Given the description of an element on the screen output the (x, y) to click on. 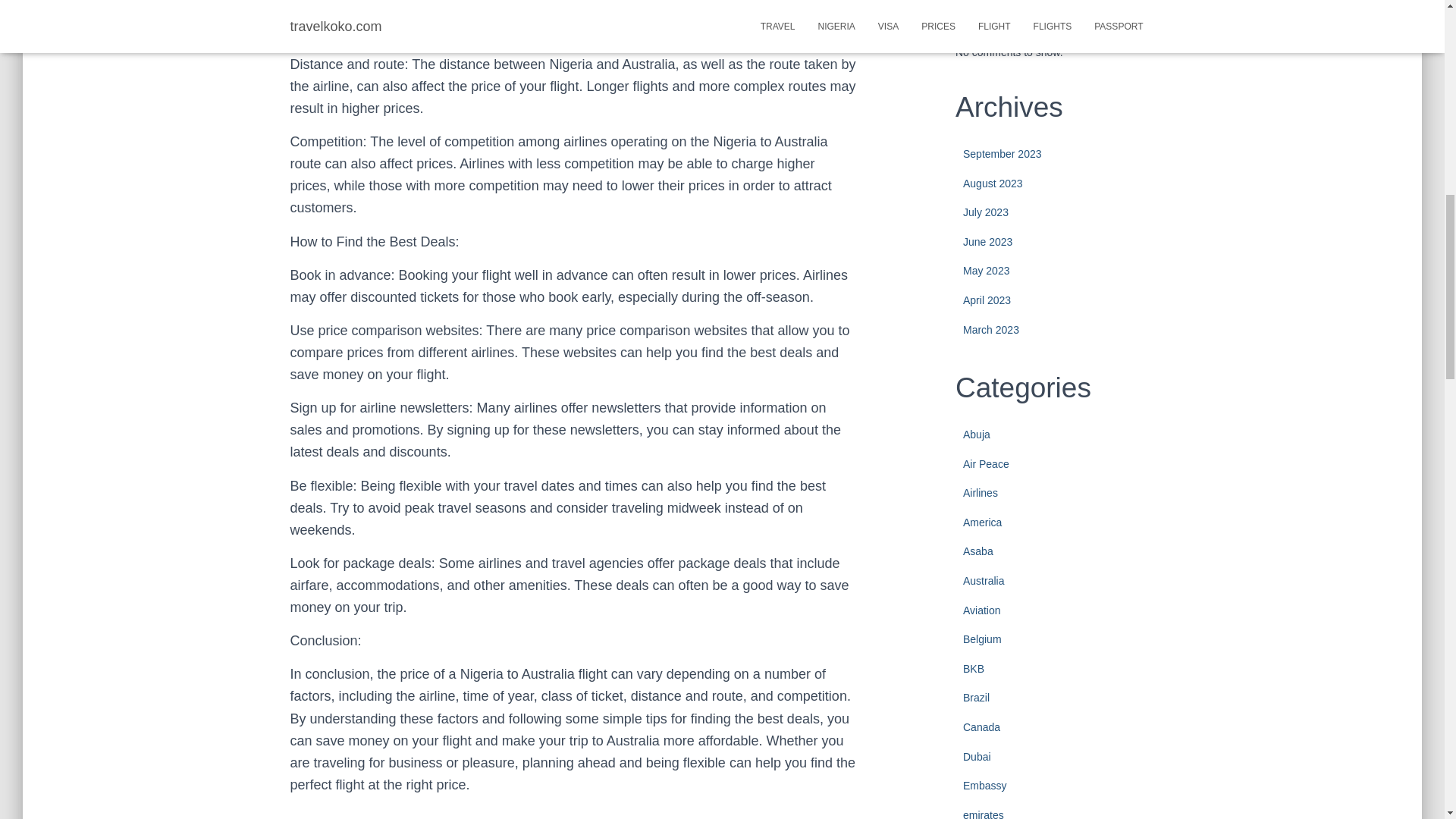
Australia (983, 580)
June 2023 (986, 241)
September 2023 (1002, 153)
March 2023 (990, 329)
Aviation (981, 610)
America (981, 522)
Air Peace (985, 463)
Airlines (979, 492)
August 2023 (992, 183)
Asaba (977, 551)
